Given the description of an element on the screen output the (x, y) to click on. 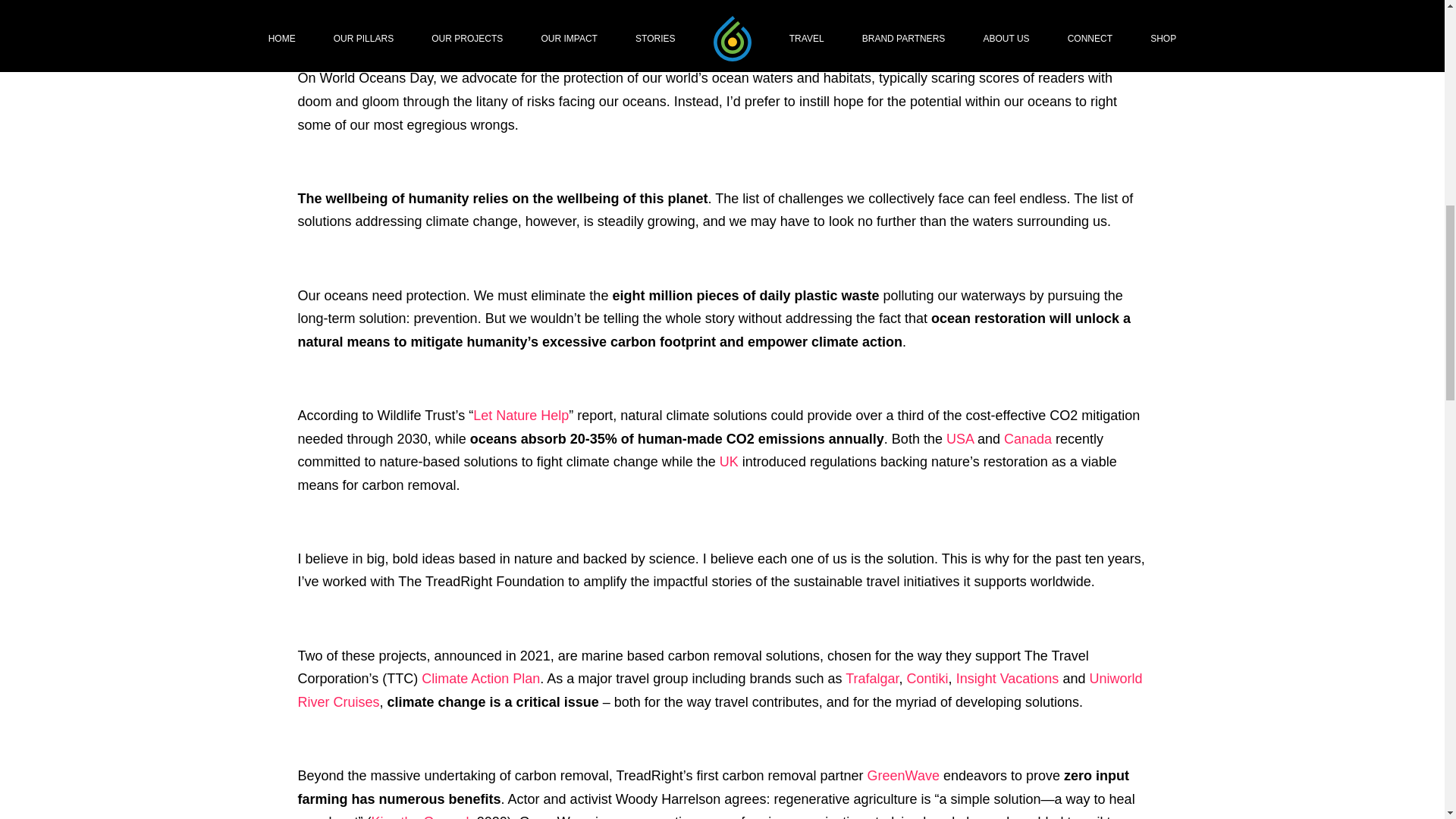
USA (960, 437)
Let Nature Help (521, 415)
Trafalgar (871, 678)
UK (728, 461)
Canada (1027, 437)
Contiki (928, 678)
Insight Vacations (1007, 678)
Climate Action Plan (481, 678)
